Given the description of an element on the screen output the (x, y) to click on. 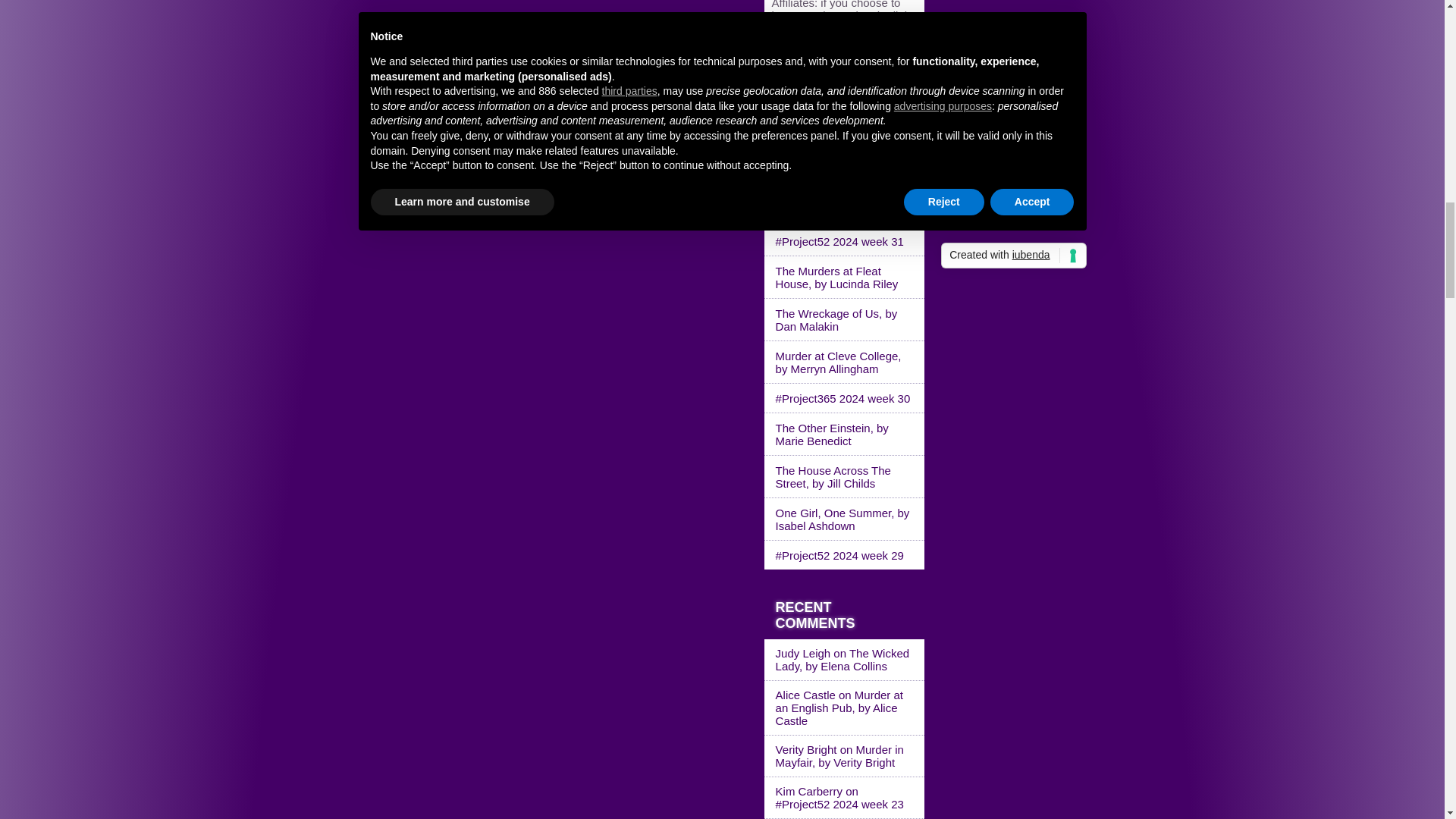
One Girl, One Summer, by Isabel Ashdown (844, 518)
Follow (788, 115)
Alice Castle (805, 694)
The Other Einstein, by Marie Benedict (844, 434)
Murder at Cleve College, by Merryn Allingham (844, 362)
The Wreckage of Us, by Dan Malakin (844, 319)
The Wicked Lady, by Elena Collins (843, 659)
The Wicked Lady, by Elena Collins (844, 205)
The House Across The Street, by Jill Childs (844, 476)
The Murders at Fleat House, by Lucinda Riley (844, 277)
